Given the description of an element on the screen output the (x, y) to click on. 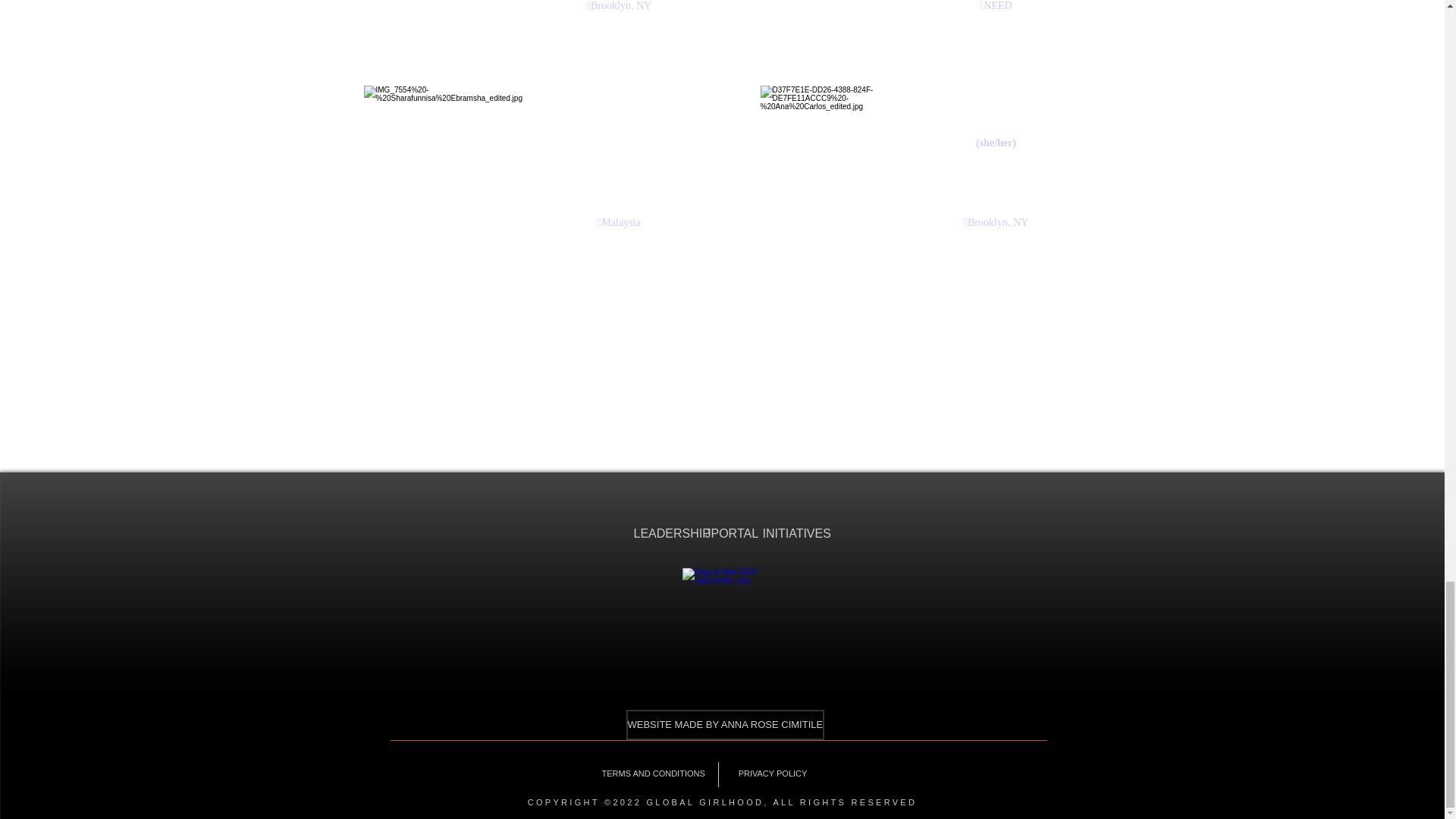
PRIVACY POLICY (772, 774)
JPORTAL (722, 533)
TERMS AND CONDITIONS (652, 774)
INITIATIVES (786, 533)
LEADERSHIP (657, 533)
